Given the description of an element on the screen output the (x, y) to click on. 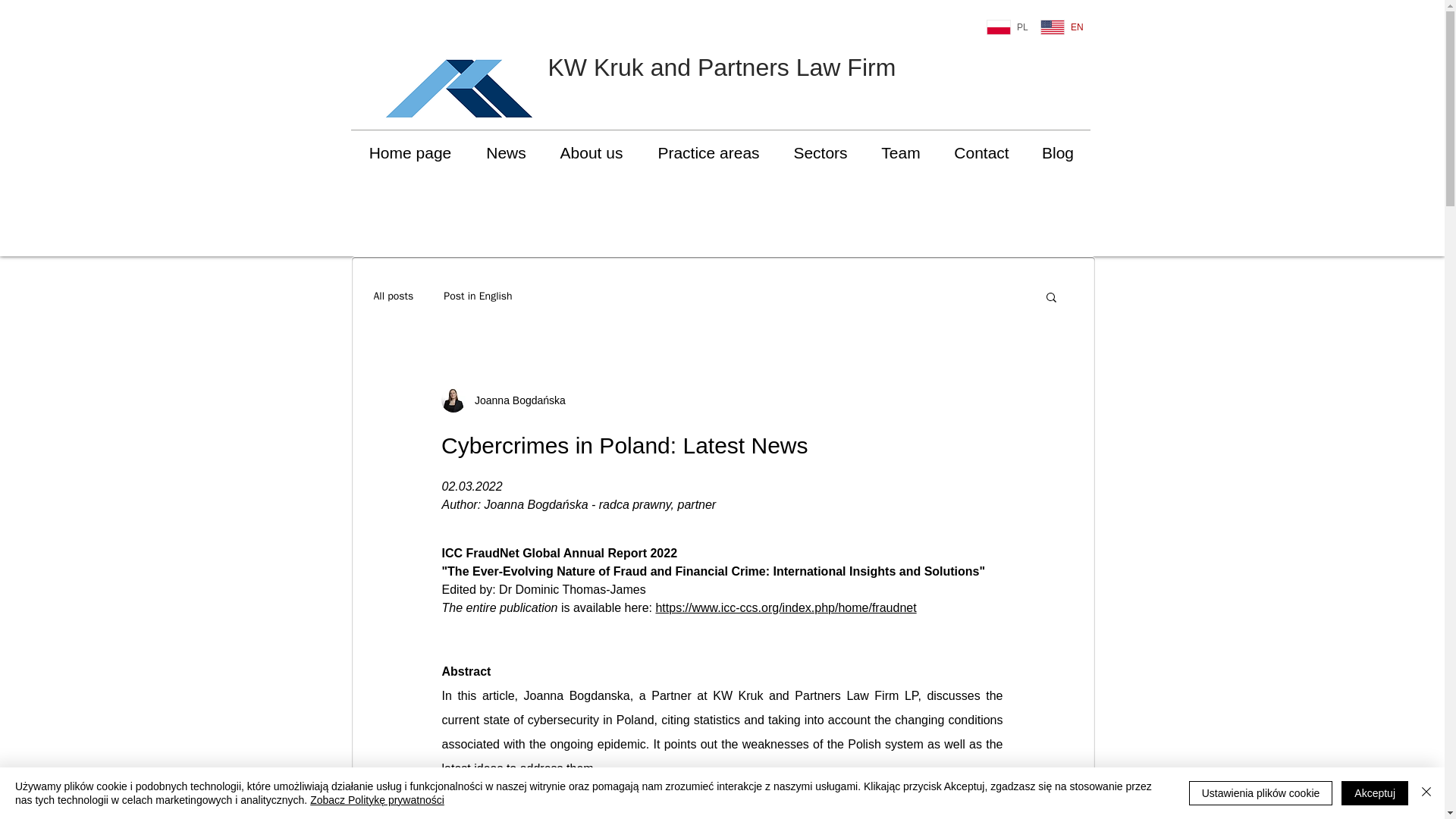
The entire publication (499, 607)
PL (1007, 27)
About us (591, 153)
Team (900, 153)
Sectors (819, 153)
Blog (1057, 153)
Home page (409, 153)
All posts (392, 296)
EN (1061, 27)
News (506, 153)
Post in English (478, 296)
Contact (981, 153)
Practice areas (708, 153)
